Given the description of an element on the screen output the (x, y) to click on. 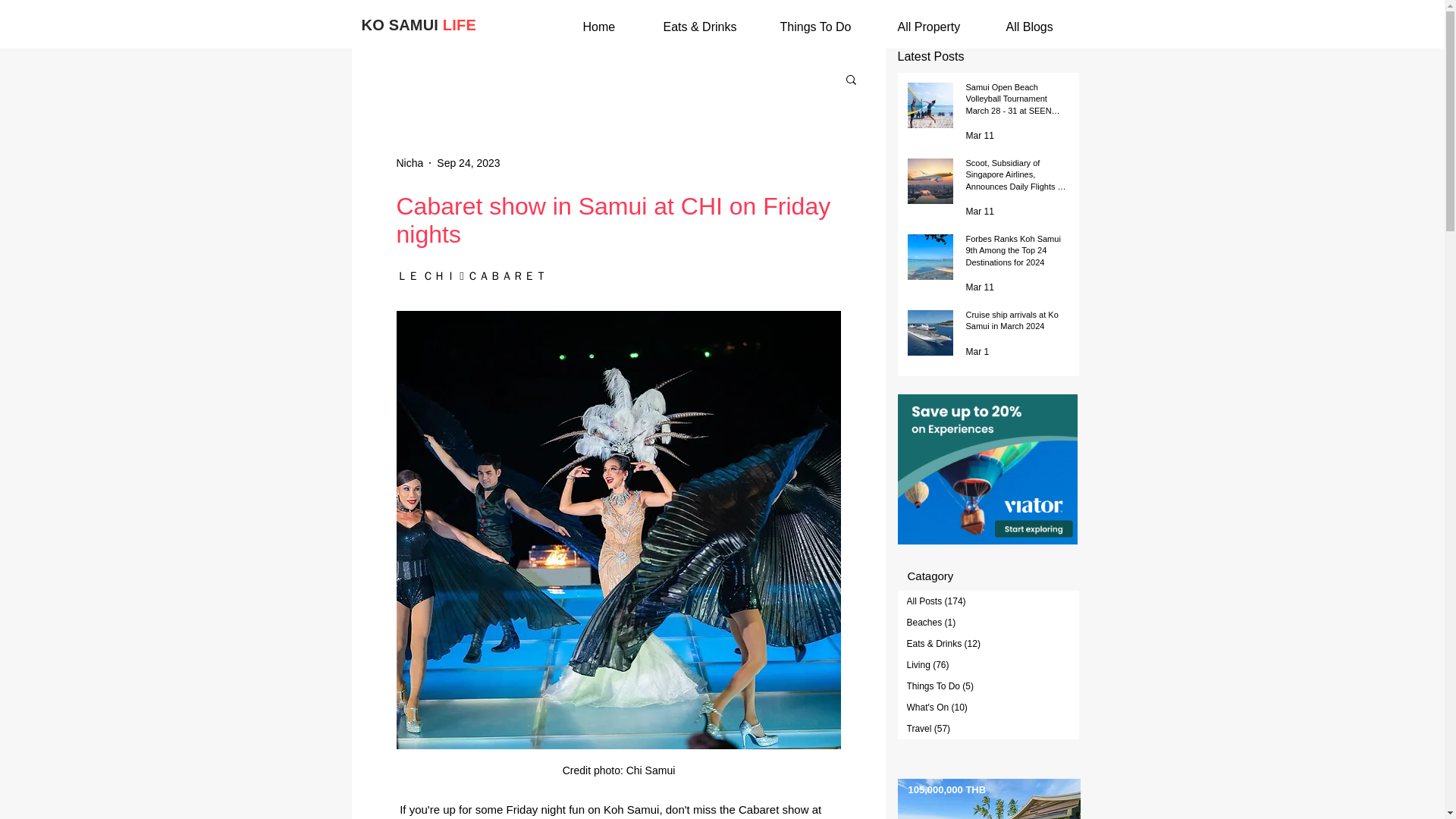
All Property (943, 26)
Cruise ship arrivals at Ko Samui in March 2024 (1016, 324)
Sep 24, 2023 (467, 162)
Embedded Content (987, 472)
Things To Do (830, 26)
Mar 11 (980, 286)
Mar 11 (980, 211)
KO SAMUI LIFE (418, 24)
Nicha (409, 162)
Nicha (409, 162)
Beachfront Villa For Sale in Koh Samui.jpg (989, 798)
Home (615, 26)
